Given the description of an element on the screen output the (x, y) to click on. 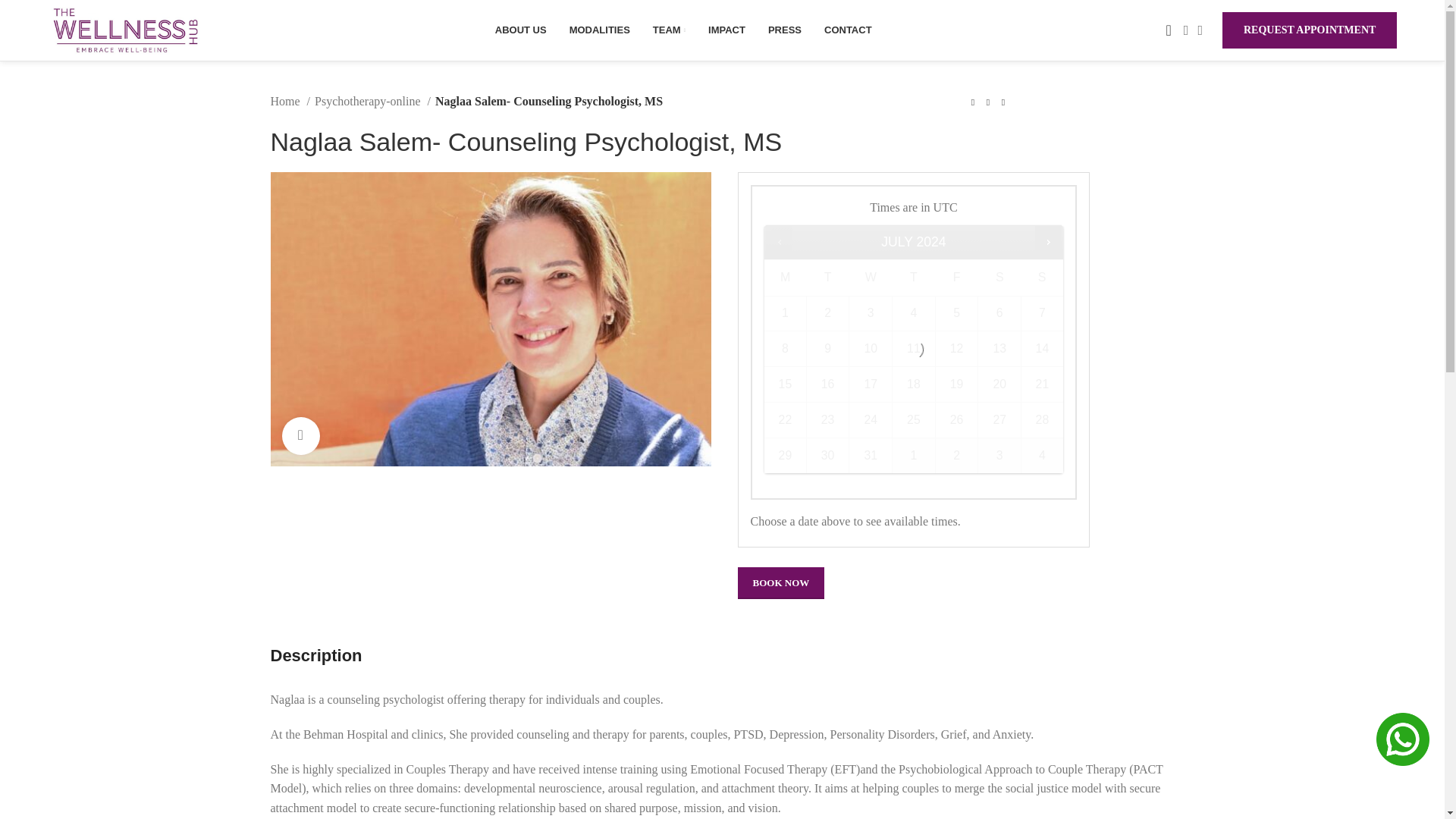
MODALITIES (599, 30)
ABOUT US (521, 30)
Naglaa (489, 318)
Psychotherapy-online (372, 101)
Home (289, 101)
IMPACT (726, 30)
PRESS (785, 30)
REQUEST APPOINTMENT (1309, 30)
CONTACT (848, 30)
BOOK NOW (780, 582)
TEAM (668, 30)
